Given the description of an element on the screen output the (x, y) to click on. 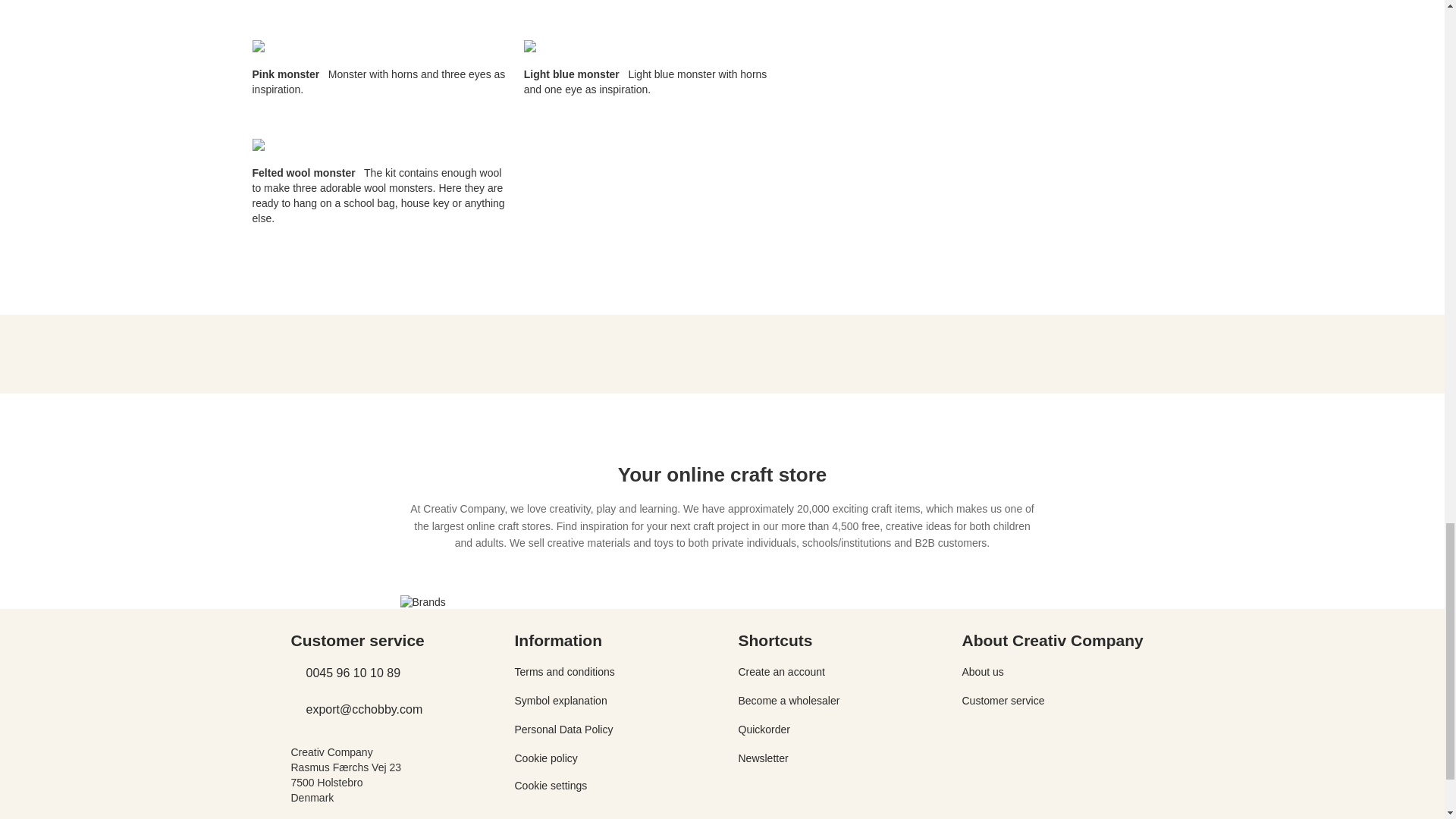
Terms and conditions (563, 671)
About us (981, 671)
Personal Data Policy (562, 729)
Customer service (1001, 700)
Quickorder (764, 729)
Become a wholesaler (789, 700)
Cookie policy (544, 758)
Create an account (781, 671)
Symbol explanation (560, 700)
